Given the description of an element on the screen output the (x, y) to click on. 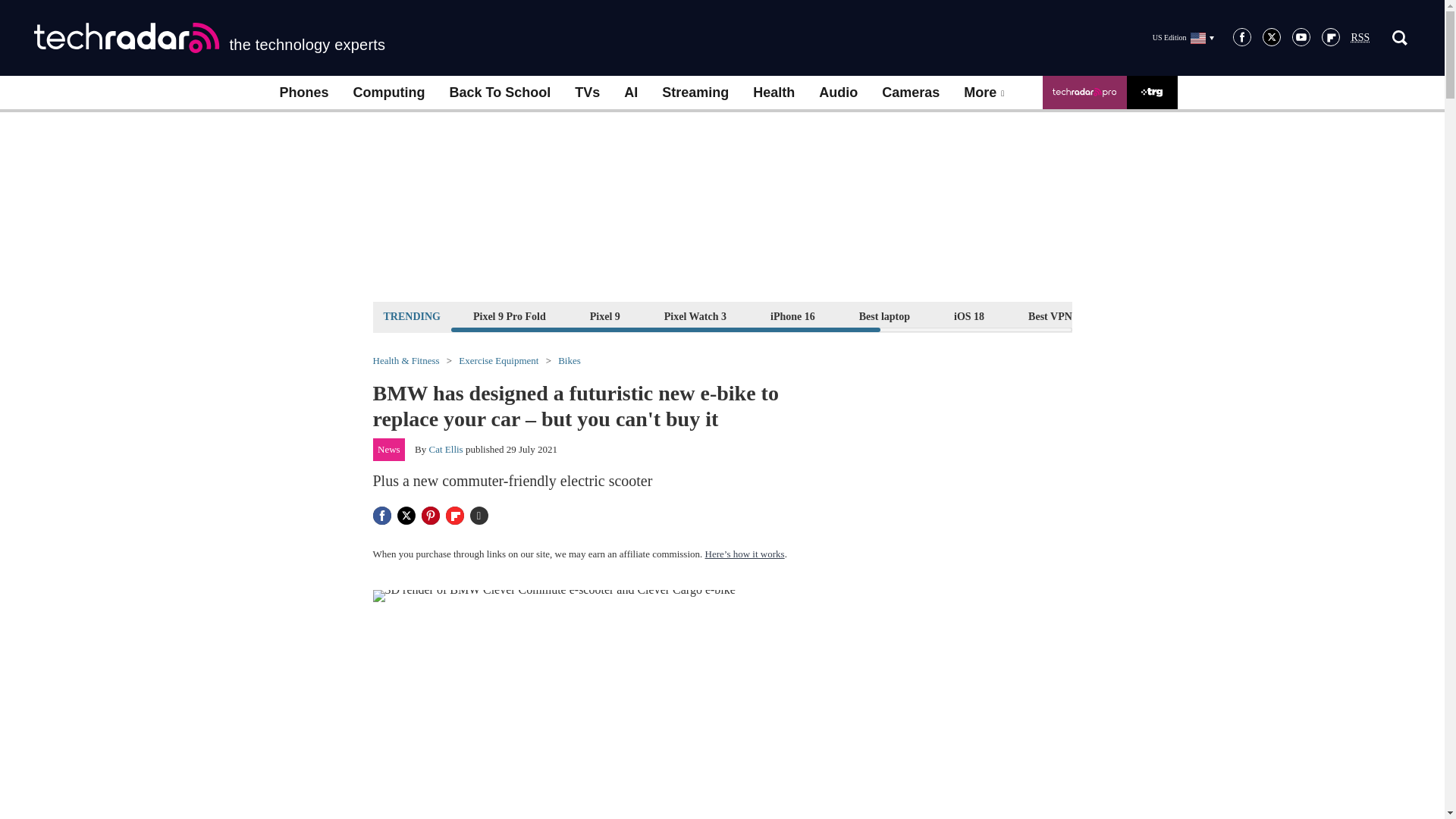
Back To School (499, 92)
Phones (303, 92)
TVs (586, 92)
Cameras (910, 92)
Streaming (695, 92)
Computing (389, 92)
US Edition (1182, 37)
Health (773, 92)
Audio (837, 92)
Really Simple Syndication (1360, 37)
